Given the description of an element on the screen output the (x, y) to click on. 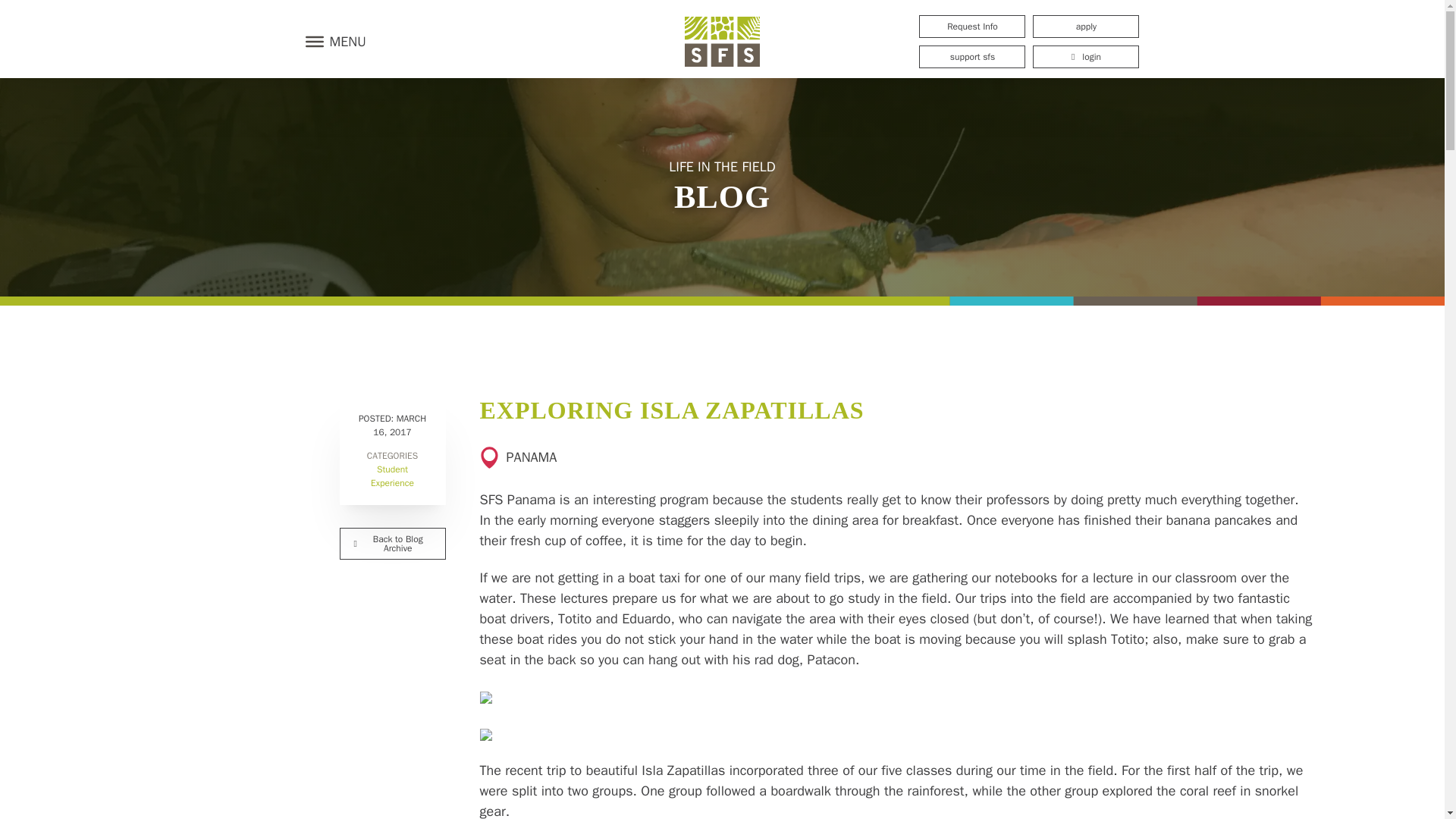
support sfs (971, 56)
login (1085, 56)
Request Info (971, 26)
apply (1085, 26)
MENU (331, 41)
